Given the description of an element on the screen output the (x, y) to click on. 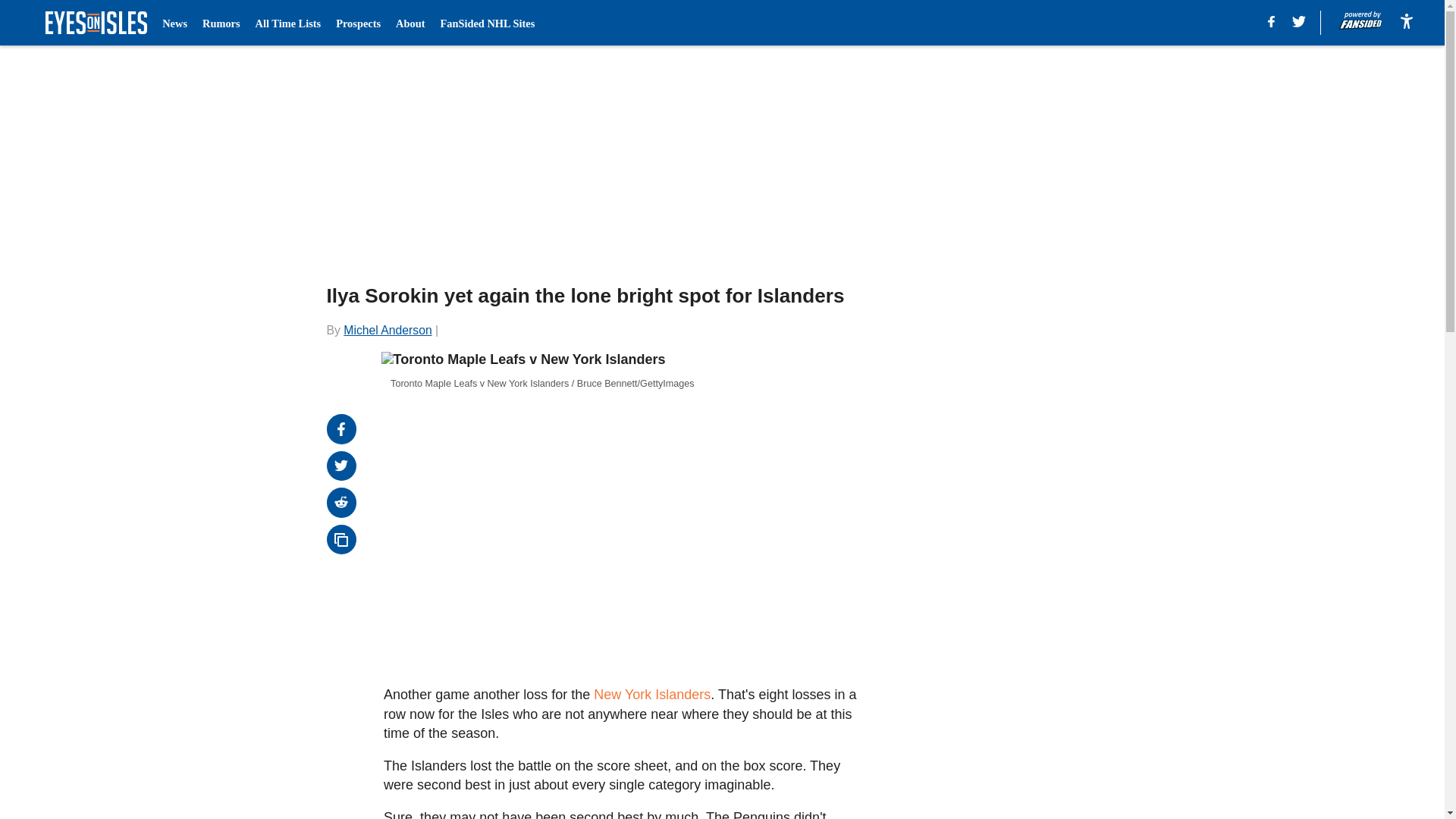
Michel Anderson (386, 329)
New York Islanders (652, 694)
FanSided NHL Sites (486, 23)
About (410, 23)
Prospects (358, 23)
All Time Lists (288, 23)
Rumors (221, 23)
News (174, 23)
